Given the description of an element on the screen output the (x, y) to click on. 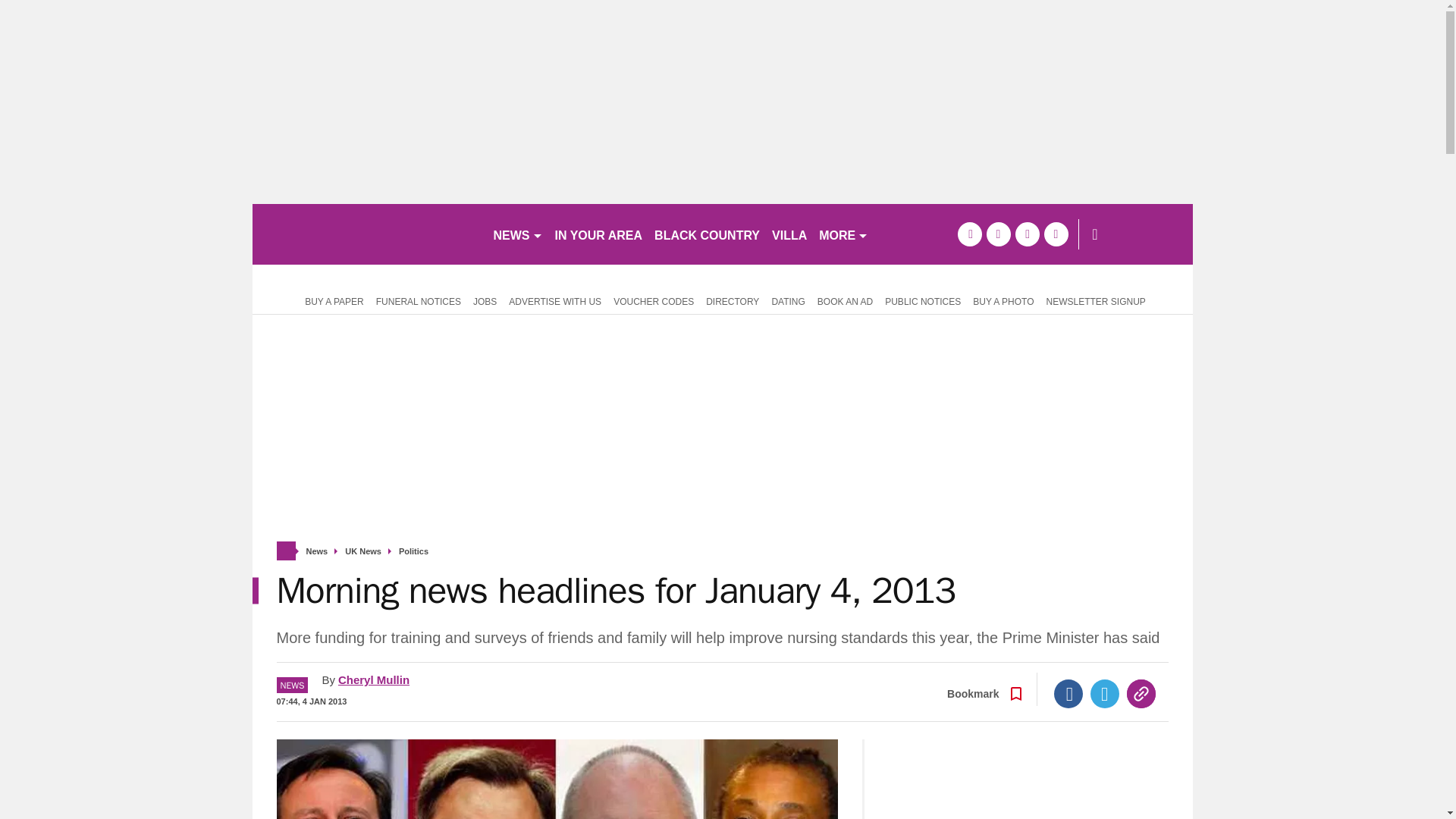
NEWS (517, 233)
birminghammail (365, 233)
Twitter (1104, 693)
MORE (843, 233)
IN YOUR AREA (598, 233)
Facebook (1068, 693)
BLACK COUNTRY (706, 233)
instagram (1055, 233)
twitter (997, 233)
tiktok (1026, 233)
